Given the description of an element on the screen output the (x, y) to click on. 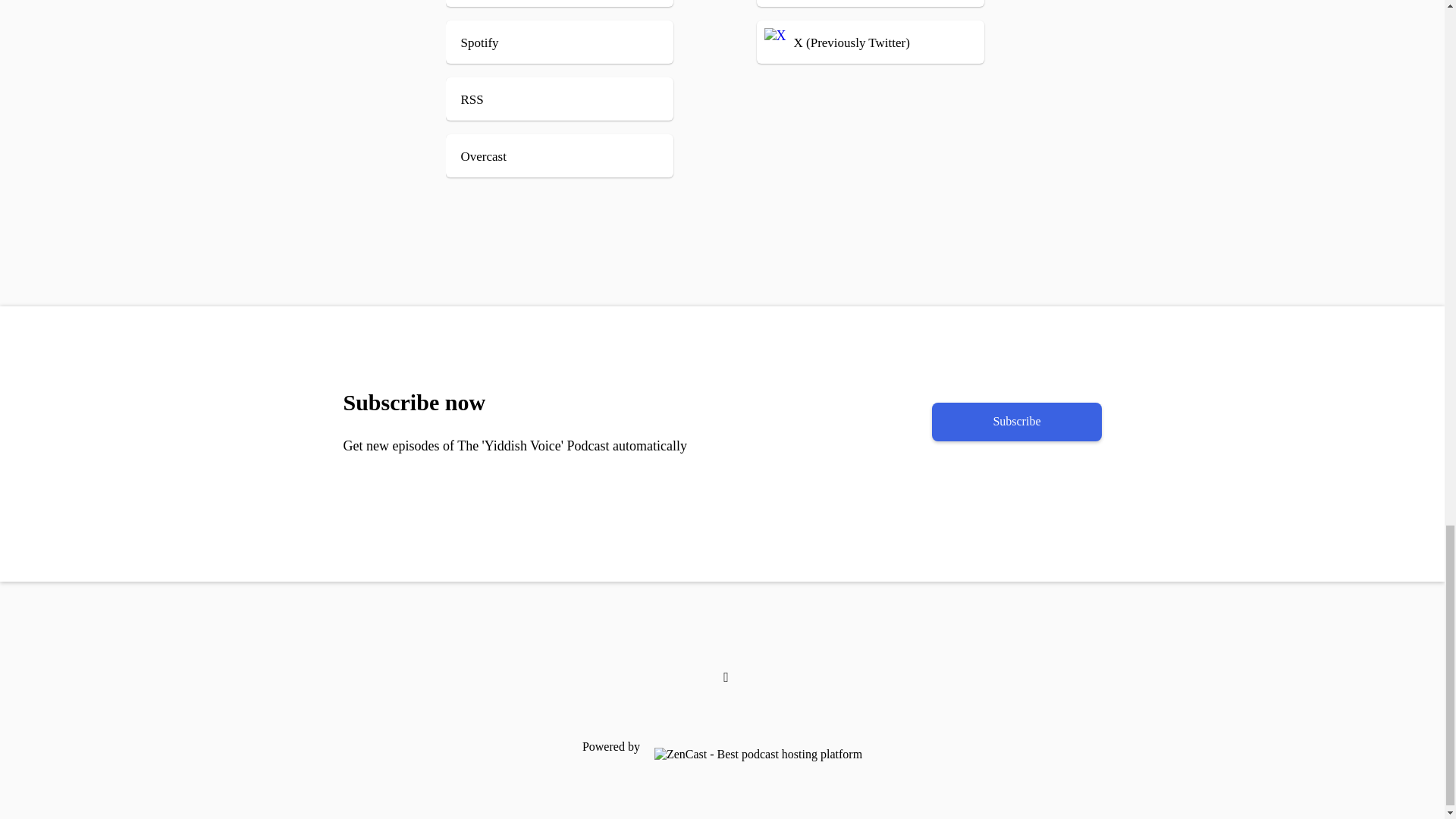
Overcast (582, 155)
Apple Podcasts (582, 3)
Spotify (582, 41)
Facebook (877, 3)
Subscribe (1015, 421)
Powered by (721, 746)
RSS (582, 98)
